Given the description of an element on the screen output the (x, y) to click on. 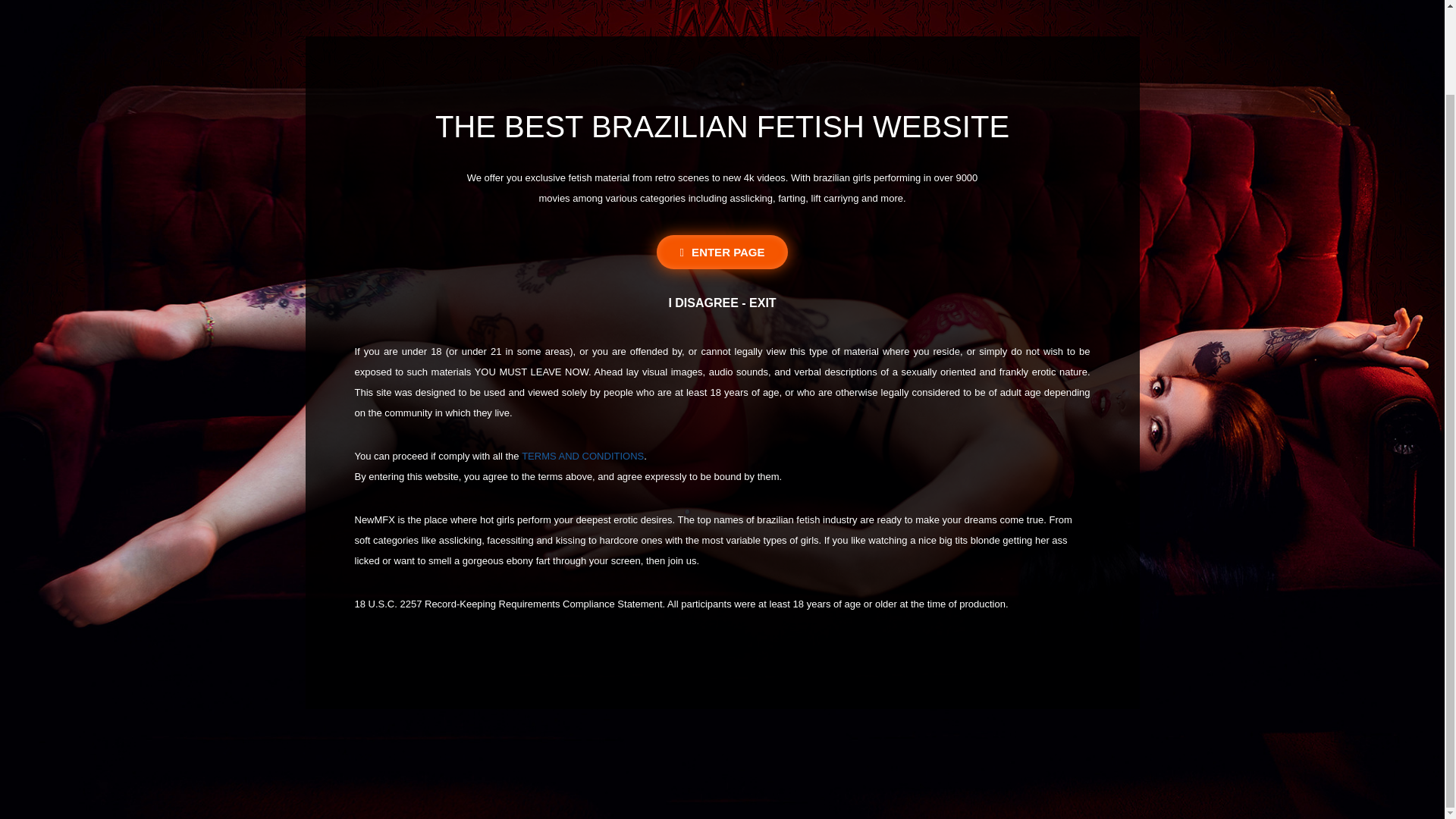
I DISAGREE - EXIT (722, 303)
ENTER PAGE (721, 252)
TERMS AND CONDITIONS (582, 455)
New MFX (721, 1)
